Given the description of an element on the screen output the (x, y) to click on. 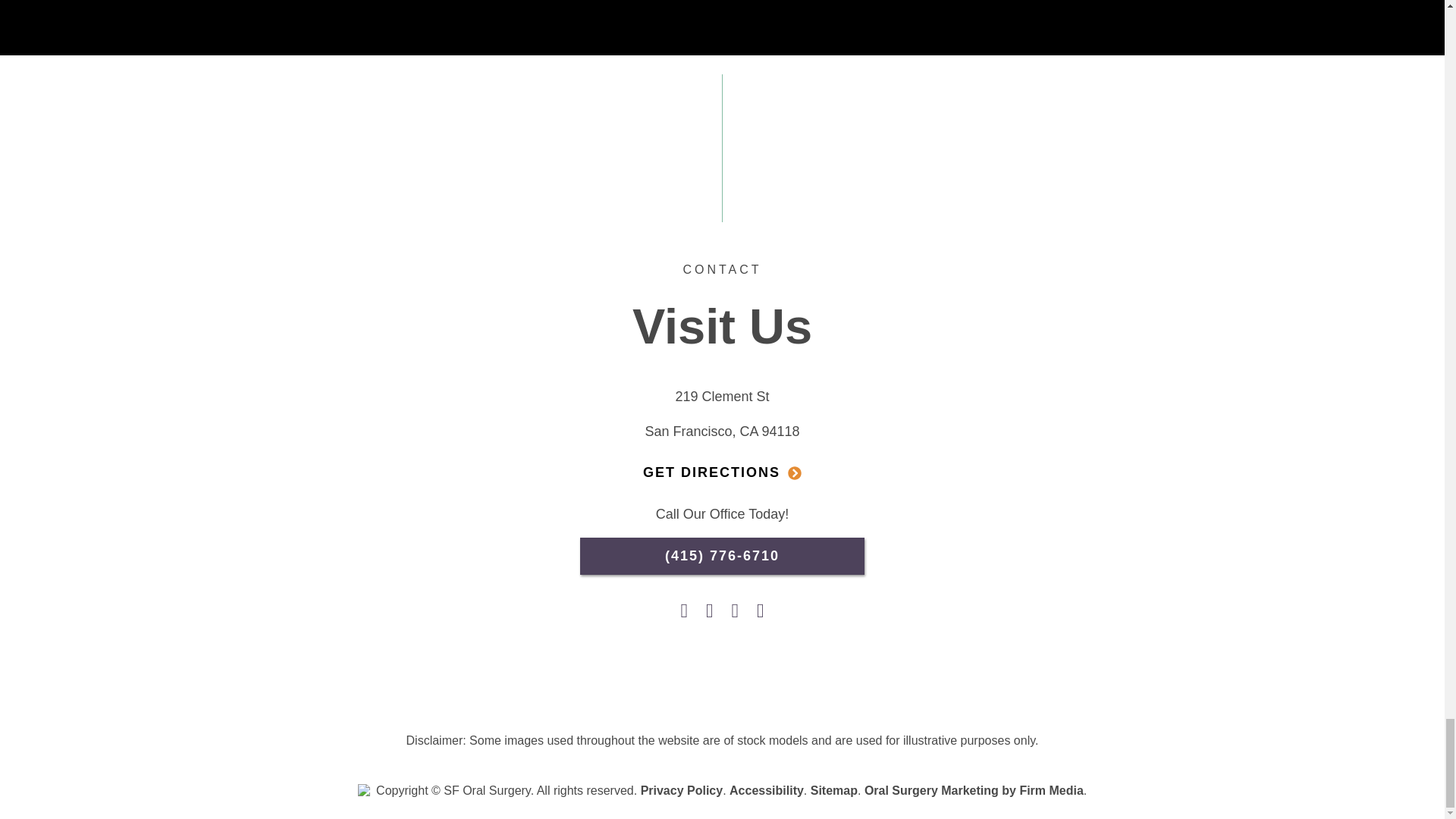
Firm media favicon sf oral surgery (365, 791)
